Given the description of an element on the screen output the (x, y) to click on. 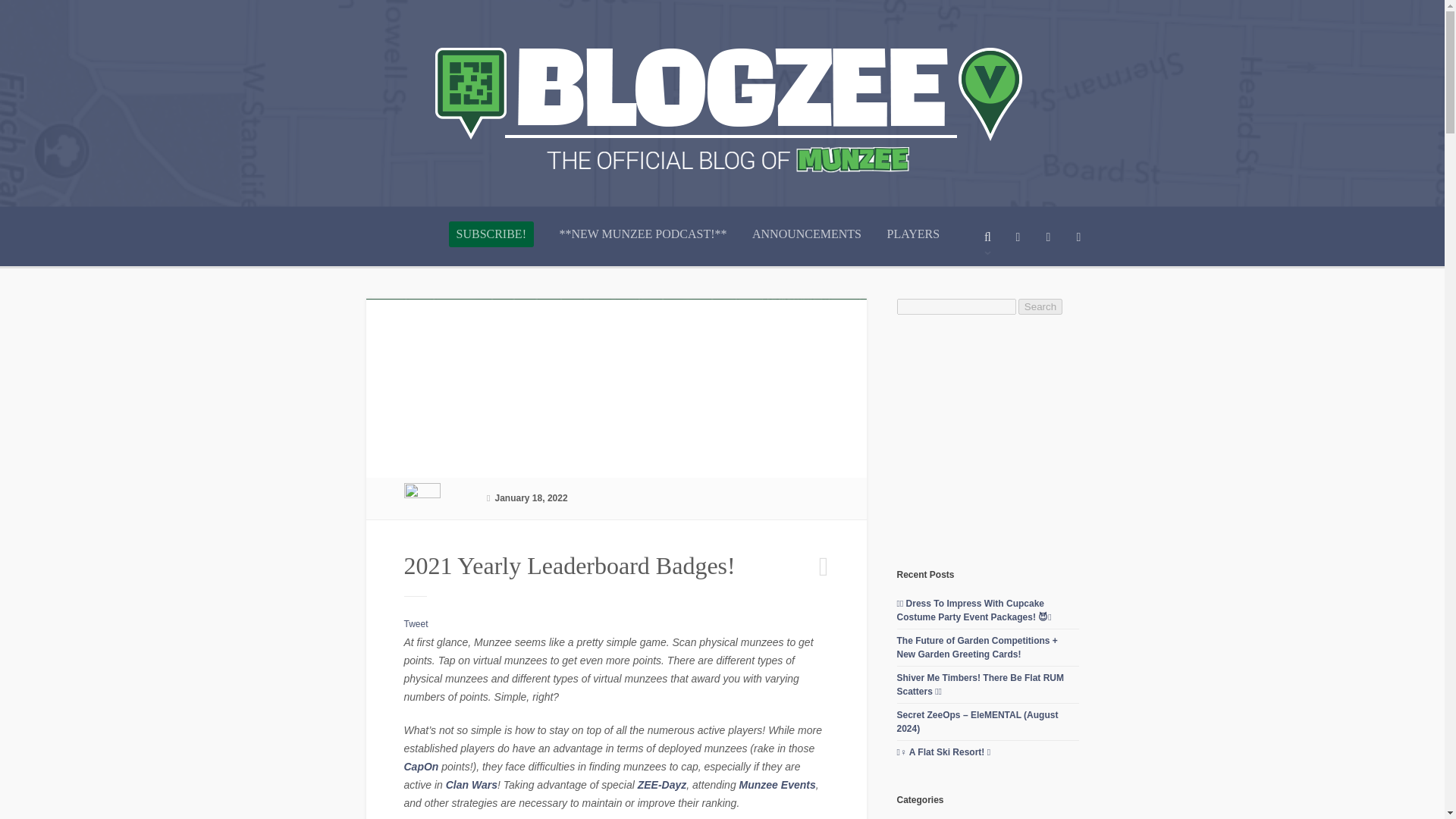
Tweet (415, 624)
SUBSCRIBE! (491, 234)
Search (1039, 306)
PLAYERS (913, 246)
CapOn (420, 766)
Munzee Events (777, 784)
ZEE-Dayz (662, 784)
ANNOUNCEMENTS (806, 246)
Clan Wars (471, 784)
